Given the description of an element on the screen output the (x, y) to click on. 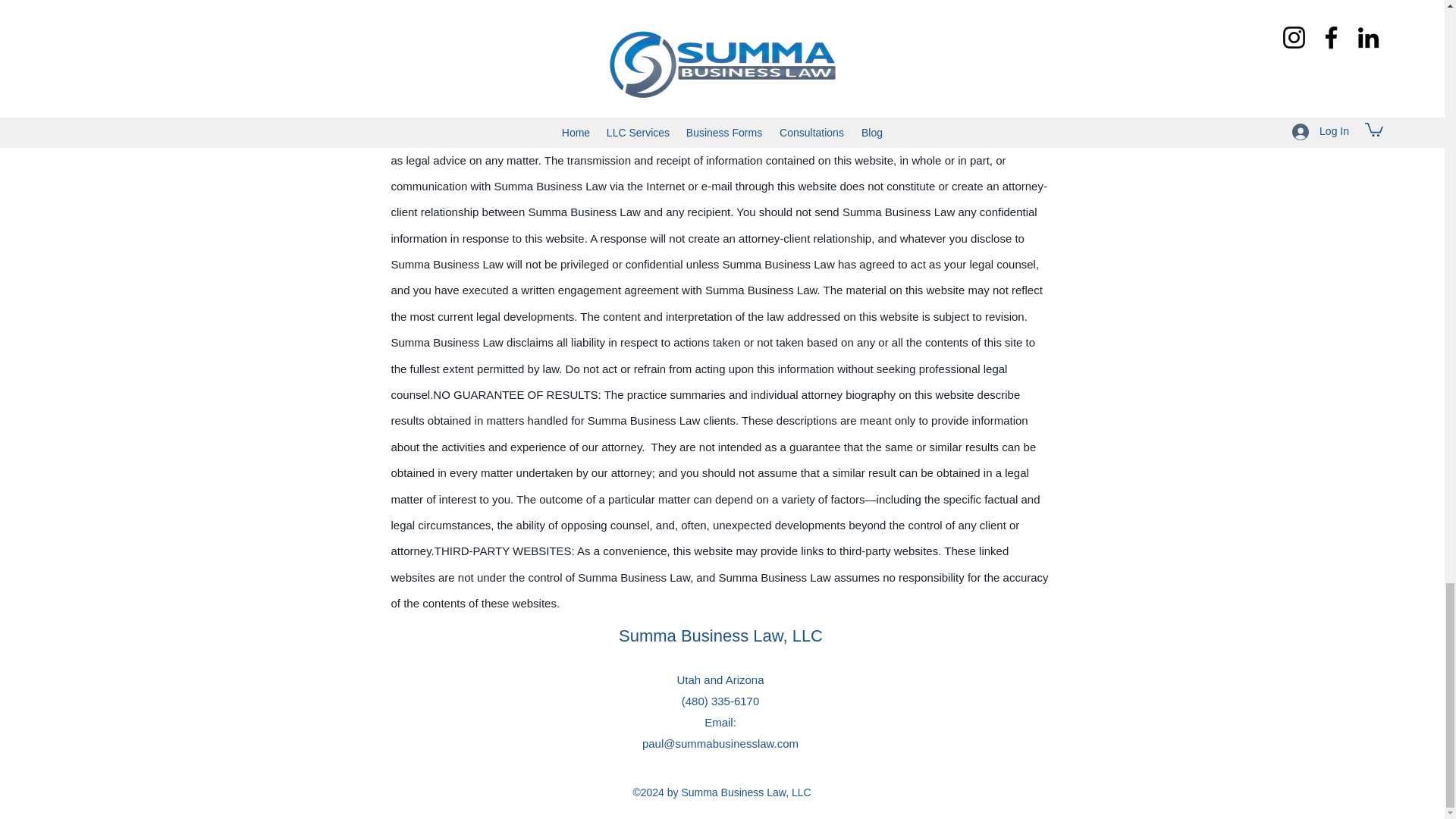
Post not marked as liked (804, 37)
Post not marked as liked (558, 37)
Post not marked as liked (1050, 37)
Summa Business Law, LLC (720, 635)
0 (926, 37)
0 (435, 37)
0 (685, 37)
